Given the description of an element on the screen output the (x, y) to click on. 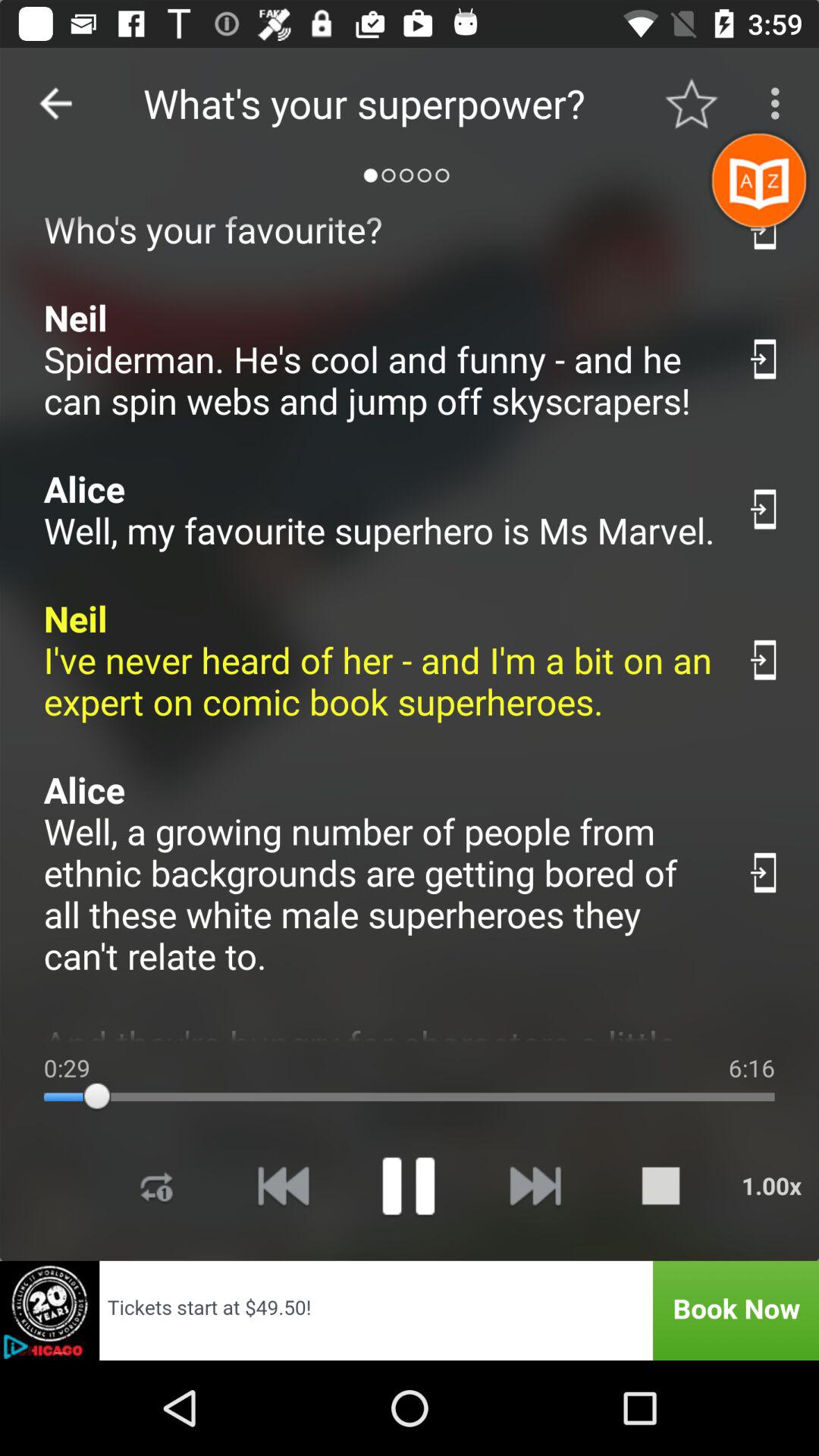
pause option (408, 1185)
